Given the description of an element on the screen output the (x, y) to click on. 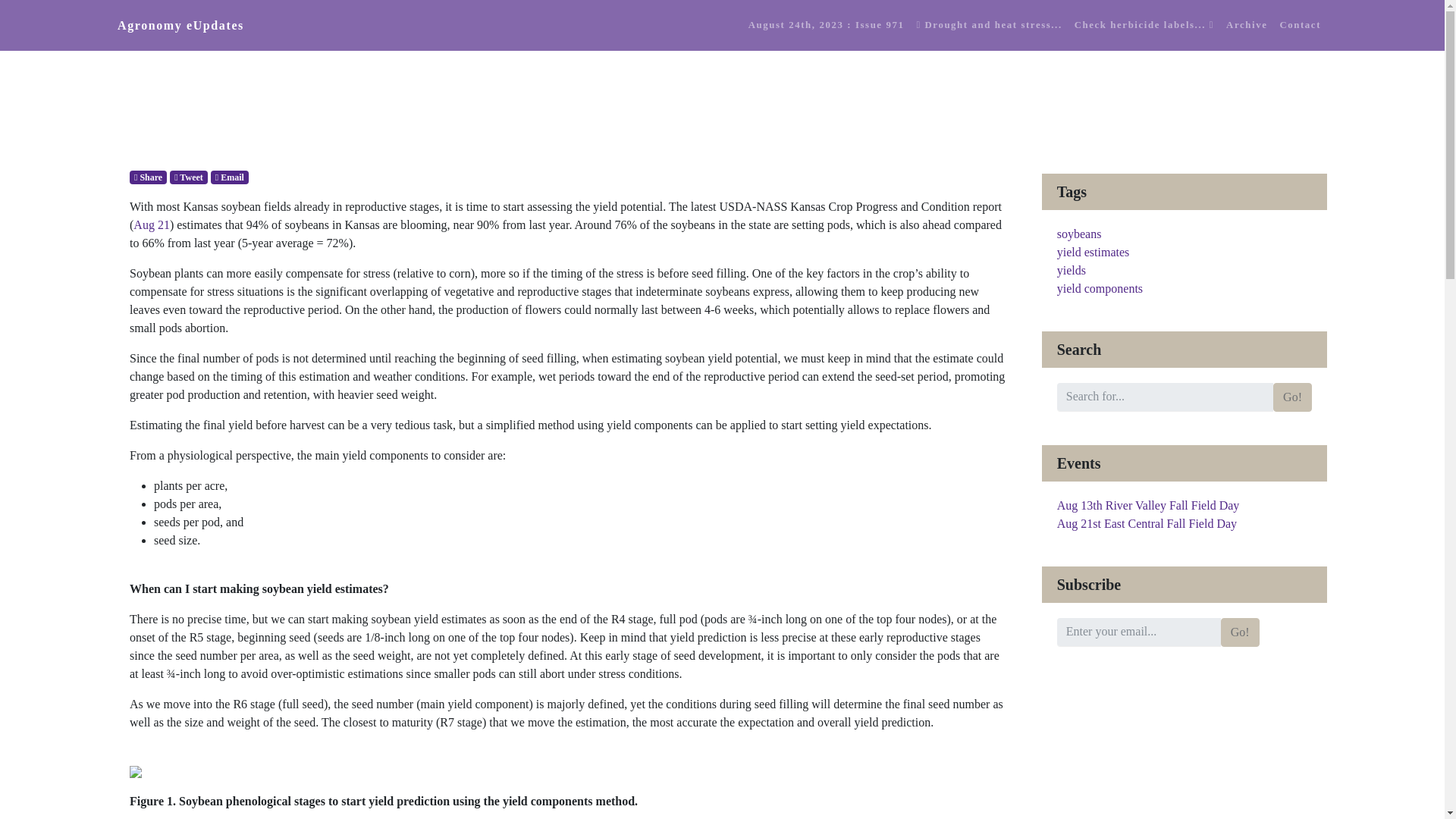
Check herbicide labels...  (1144, 25)
Contact (1299, 25)
Aug 21st East Central Fall Field Day (1146, 522)
Aug 21 (151, 224)
yield components (1099, 287)
soybeans (1079, 233)
Aug 13th River Valley Fall Field Day (1148, 504)
Share (148, 177)
August 24th, 2023 : Issue 971 (826, 25)
Email (229, 177)
